Given the description of an element on the screen output the (x, y) to click on. 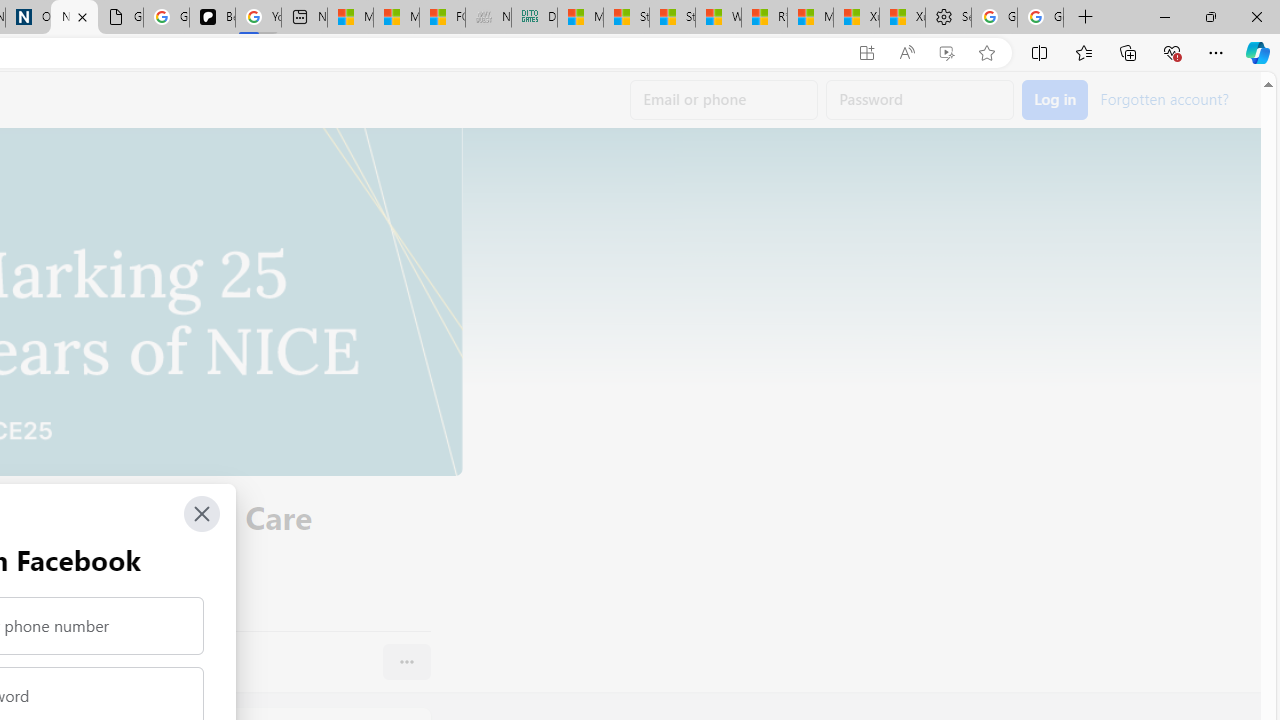
Password (920, 99)
